Given the description of an element on the screen output the (x, y) to click on. 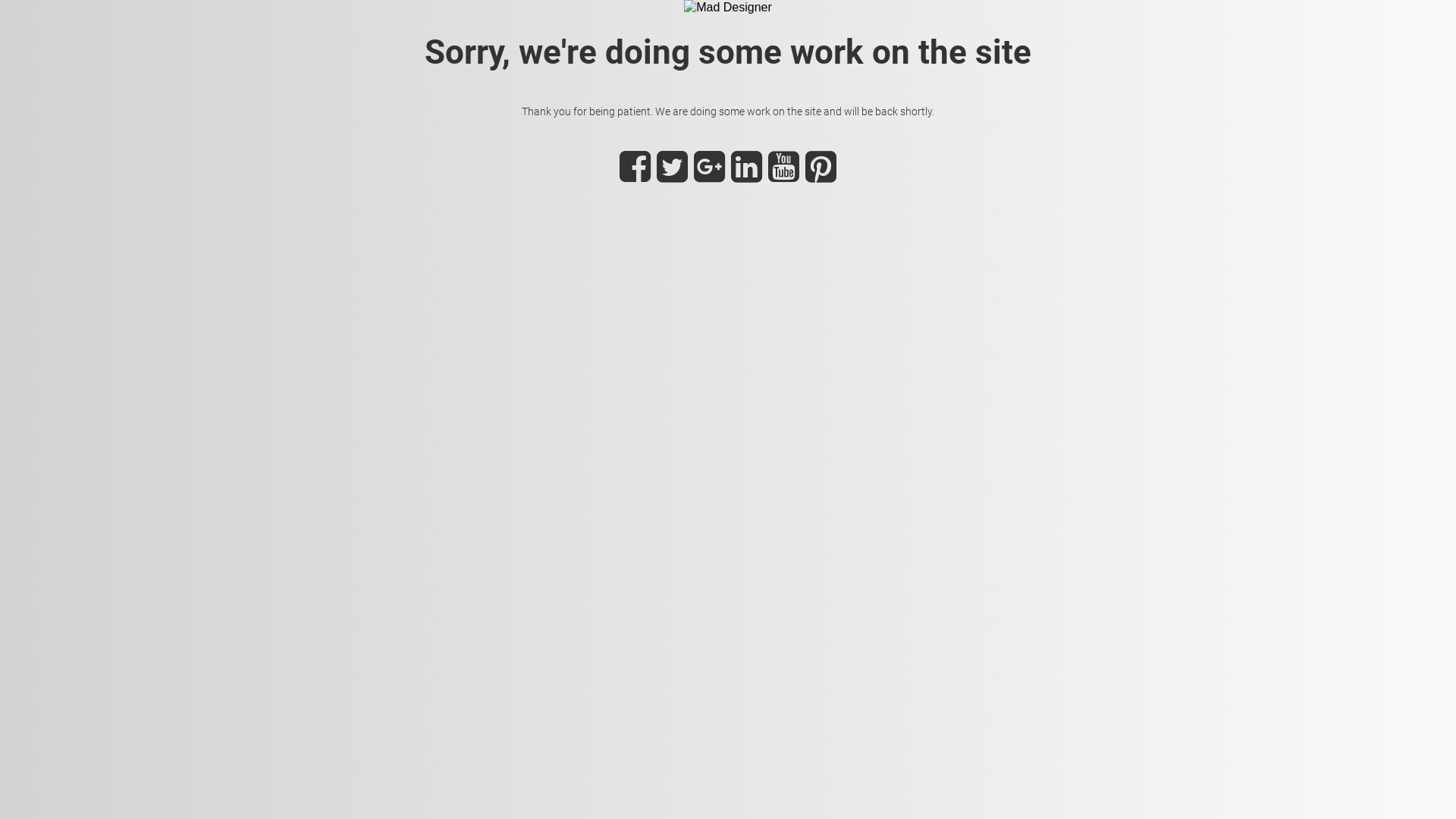
google Element type: hover (708, 175)
Mad Designer Element type: hover (727, 7)
youtube Element type: hover (783, 175)
twitter Element type: hover (671, 175)
pinterest Element type: hover (820, 175)
linkedin Element type: hover (746, 175)
facebook Element type: hover (634, 175)
